Given the description of an element on the screen output the (x, y) to click on. 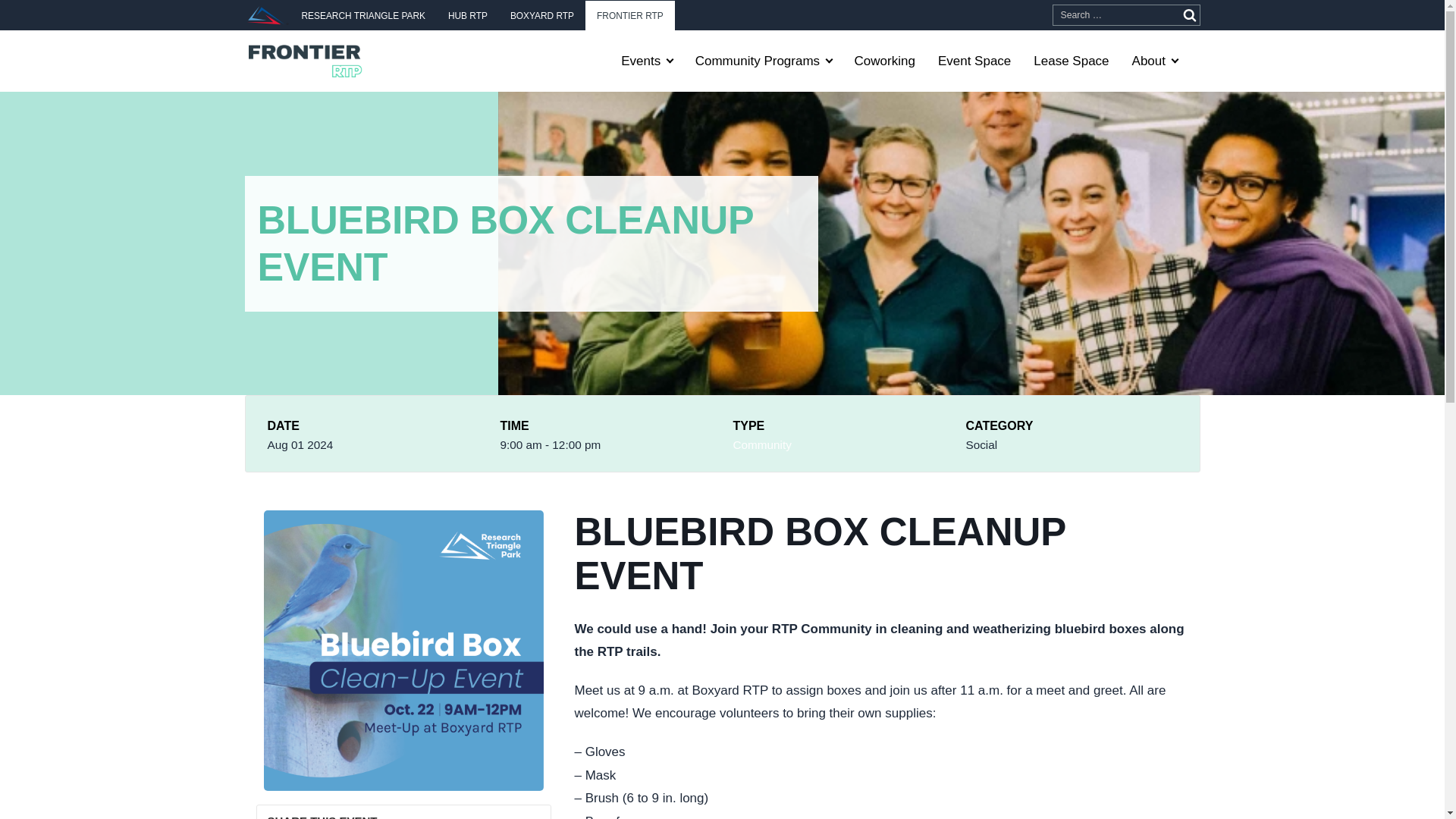
About (1155, 60)
Submit (1189, 14)
HUB RTP (467, 14)
BOXYARD RTP (542, 14)
Coworking (884, 60)
Community Programs (763, 60)
RESEARCH TRIANGLE PARK (362, 14)
Event Space (974, 60)
Lease Space (1070, 60)
FRONTIER RTP (630, 14)
